Given the description of an element on the screen output the (x, y) to click on. 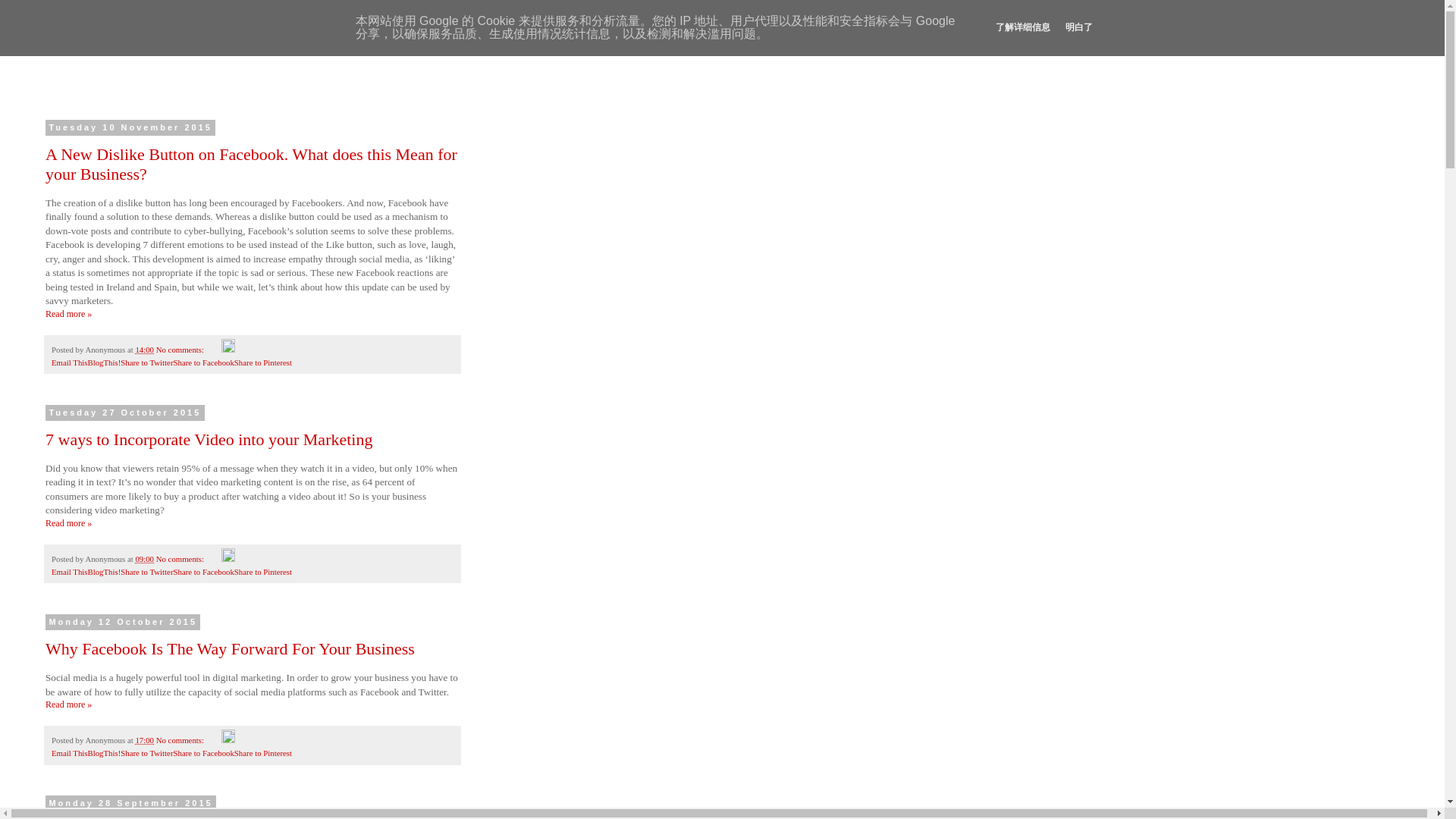
Share to Pinterest (263, 361)
Why Facebook Is The Way Forward For Your Business (229, 648)
Share to Pinterest (263, 361)
BlogThis! (103, 571)
No comments: (180, 348)
Email Post (214, 558)
Edit Post (227, 558)
Share to Facebook (202, 361)
09:00 (144, 558)
Edit Post (227, 348)
permanent link (144, 348)
Share to Pinterest (263, 752)
Share to Twitter (146, 752)
Email This (68, 361)
7 ways to Incorporate Video into your Marketing (68, 522)
